Given the description of an element on the screen output the (x, y) to click on. 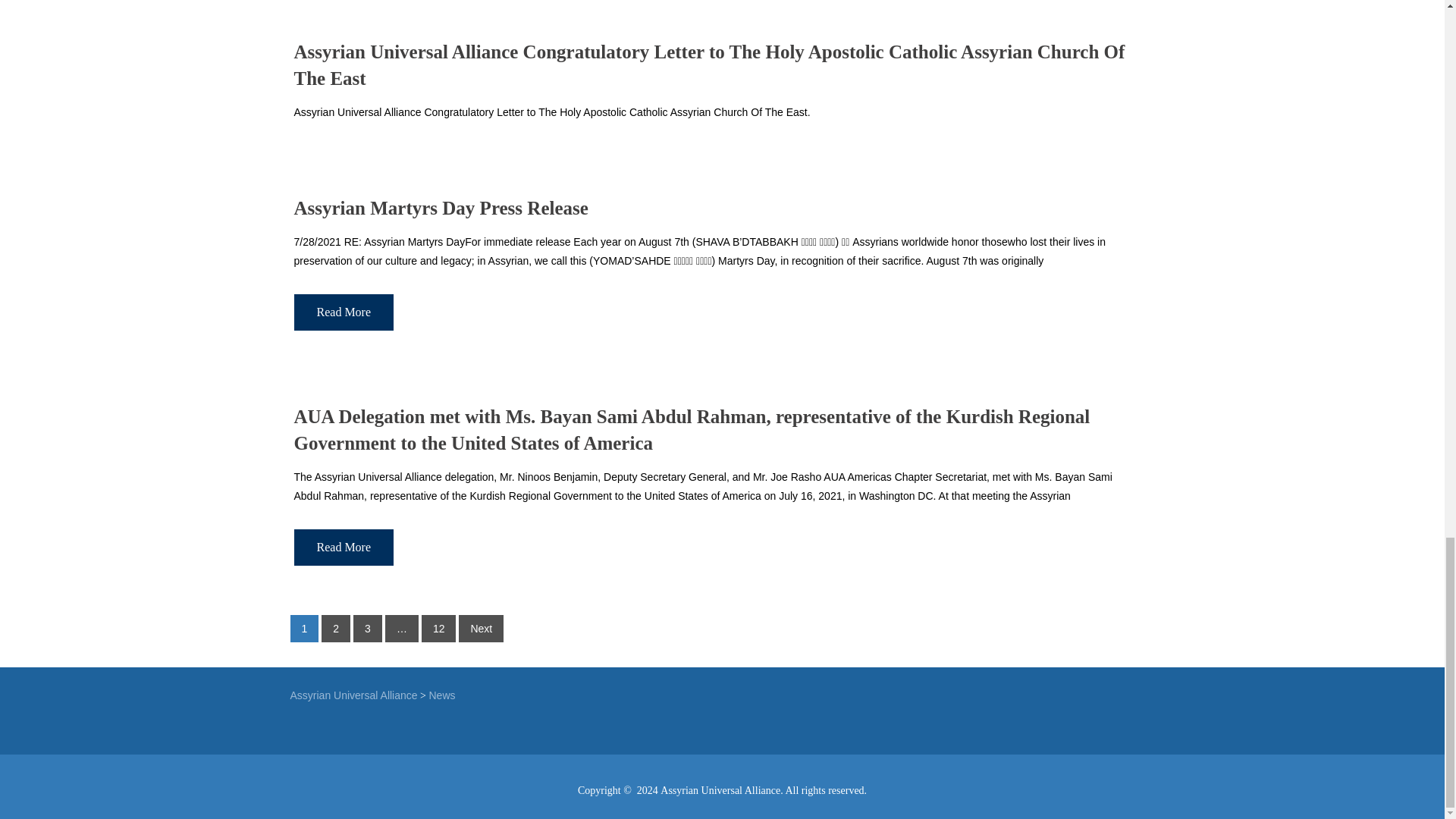
Go to Assyrian Universal Alliance. (352, 695)
